Given the description of an element on the screen output the (x, y) to click on. 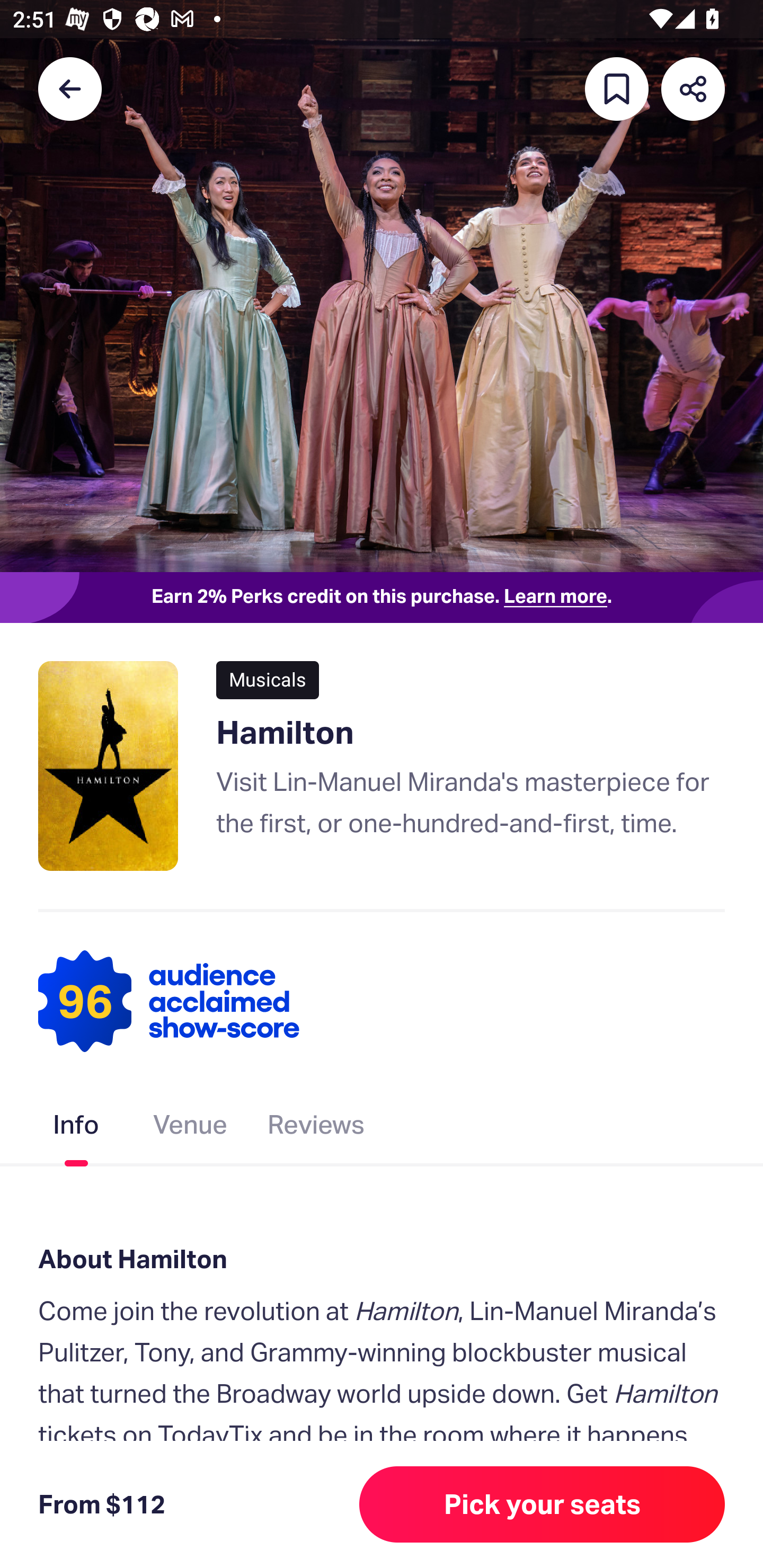
Earn 2% Perks credit on this purchase. Learn more. (381, 597)
Venue (190, 1127)
Reviews (315, 1127)
About Hamilton (381, 1259)
Pick your seats (541, 1504)
